Given the description of an element on the screen output the (x, y) to click on. 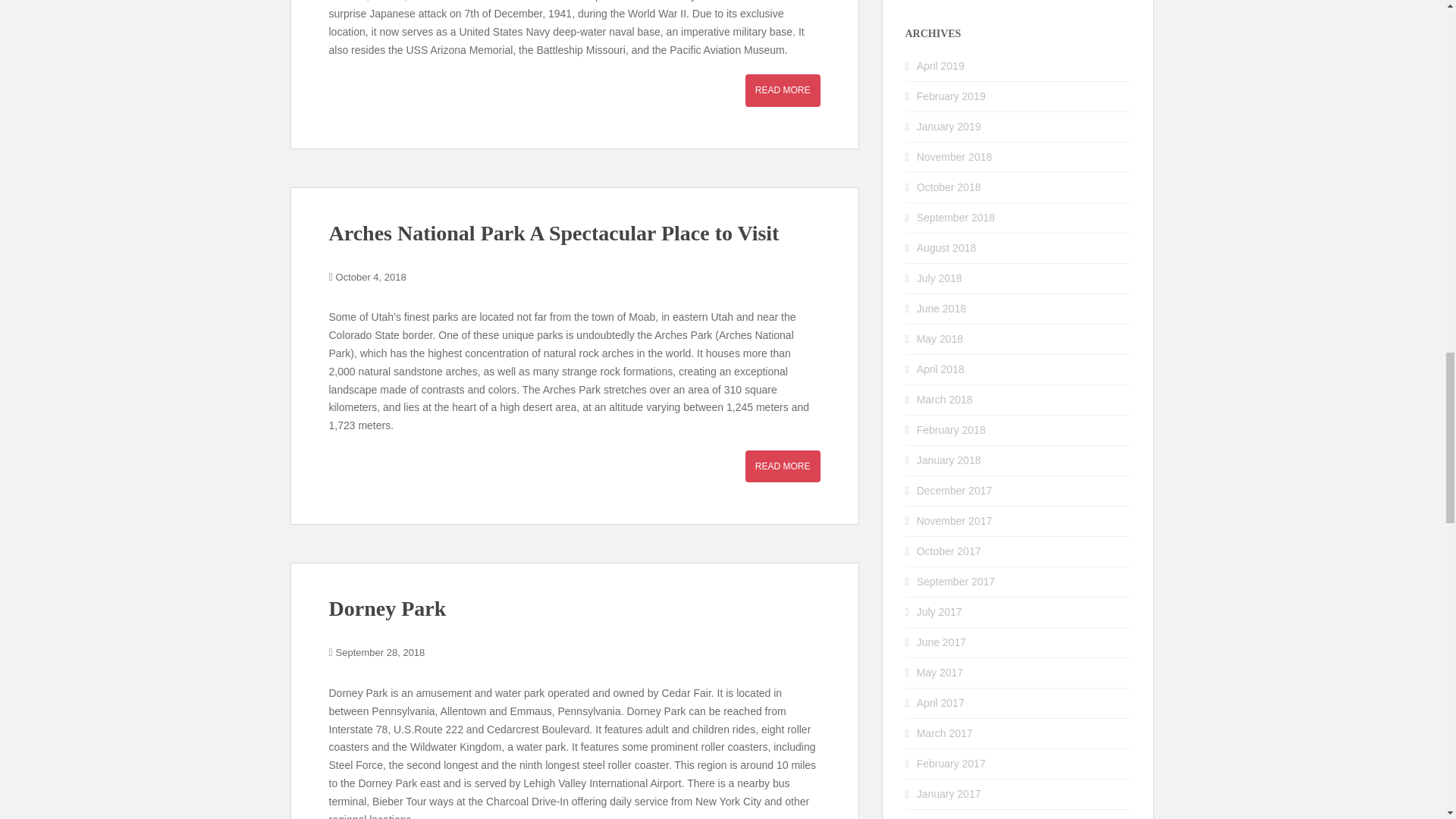
READ MORE (783, 90)
